Given the description of an element on the screen output the (x, y) to click on. 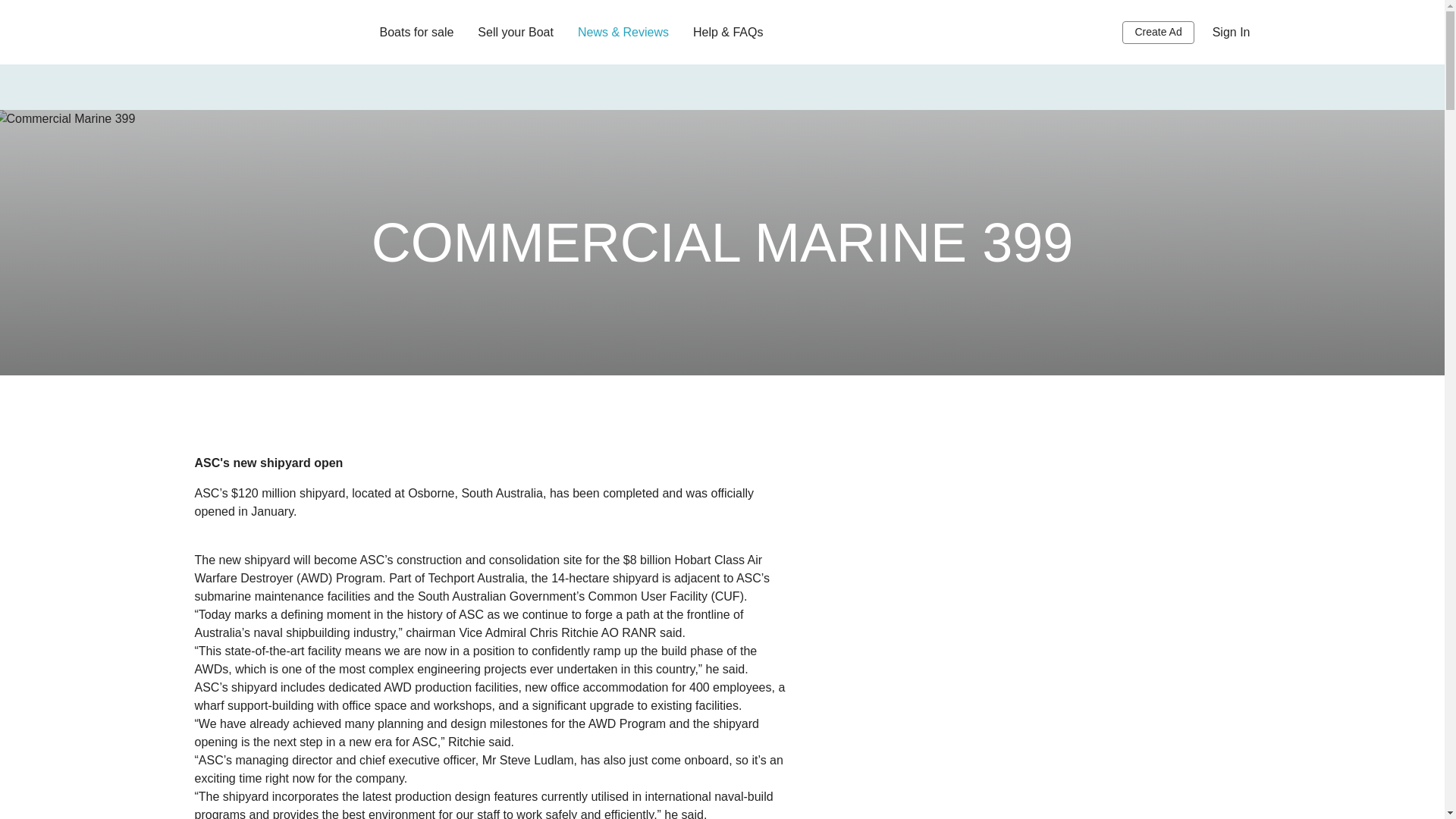
Sign In (1231, 31)
Create Ad (1157, 32)
Sell your Boat (515, 31)
Boats for sale (415, 31)
